Given the description of an element on the screen output the (x, y) to click on. 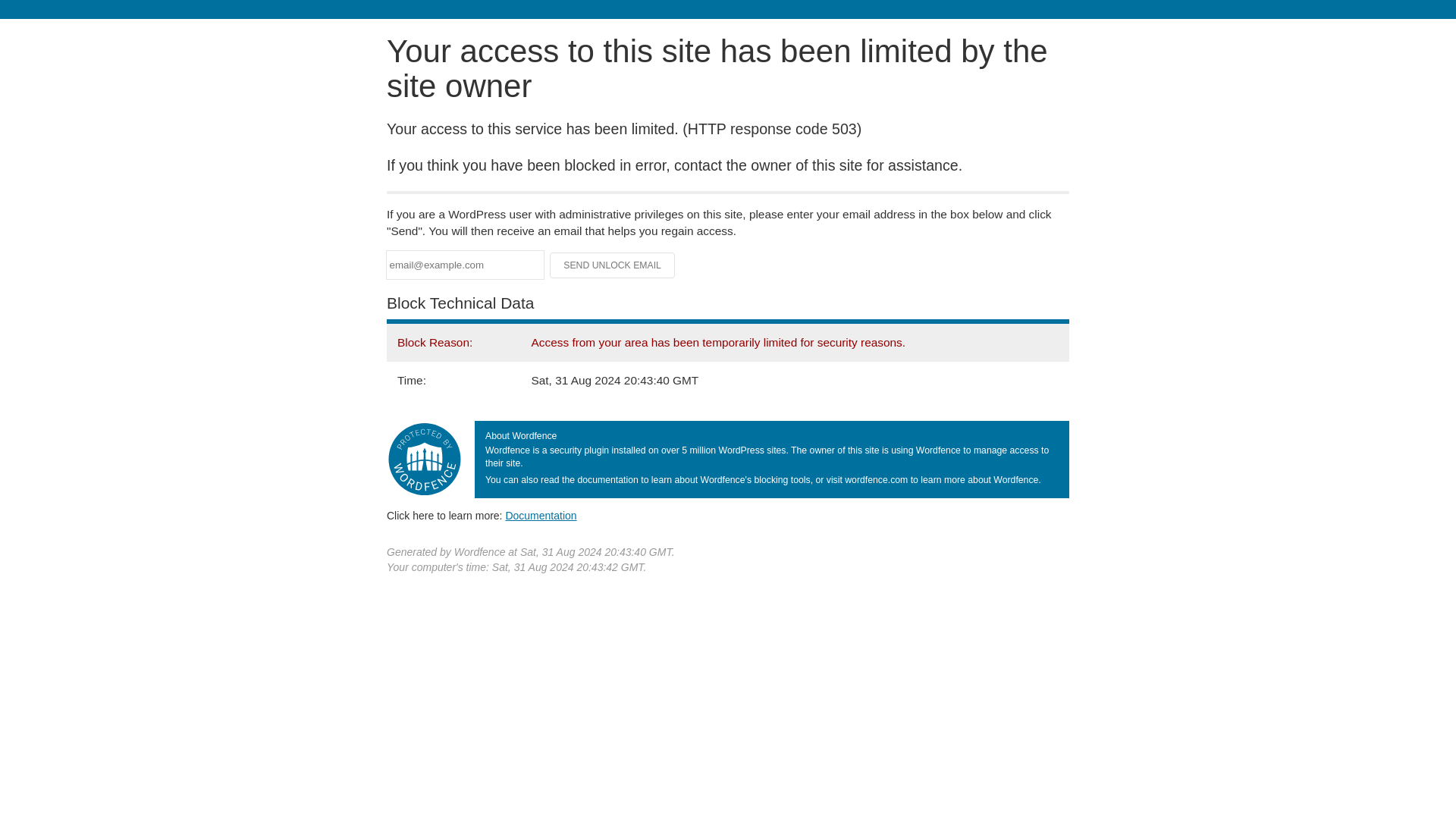
Documentation (540, 515)
Send Unlock Email (612, 265)
Send Unlock Email (612, 265)
